Given the description of an element on the screen output the (x, y) to click on. 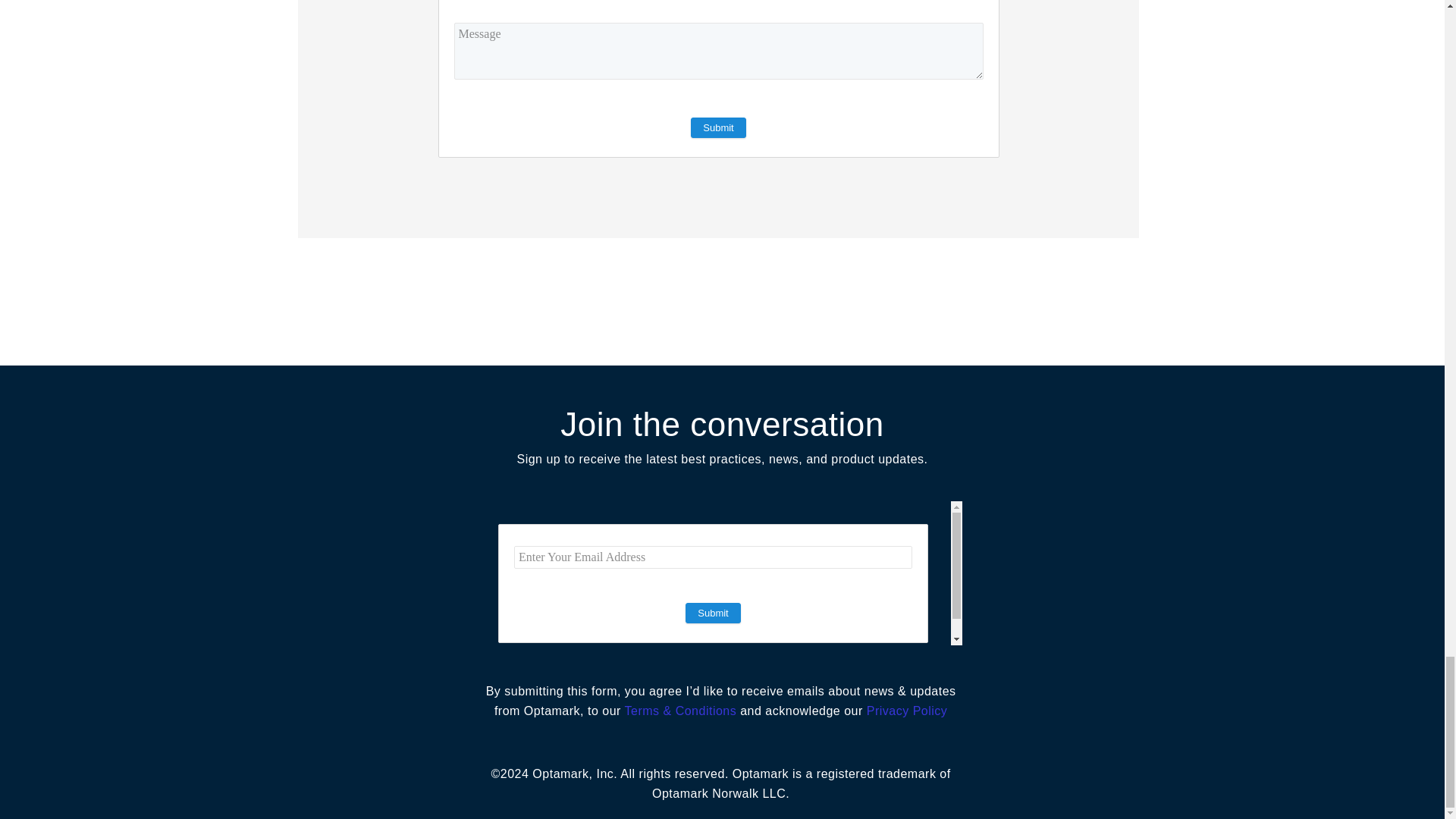
Privacy Policy (906, 710)
Join the conversation (722, 424)
